Given the description of an element on the screen output the (x, y) to click on. 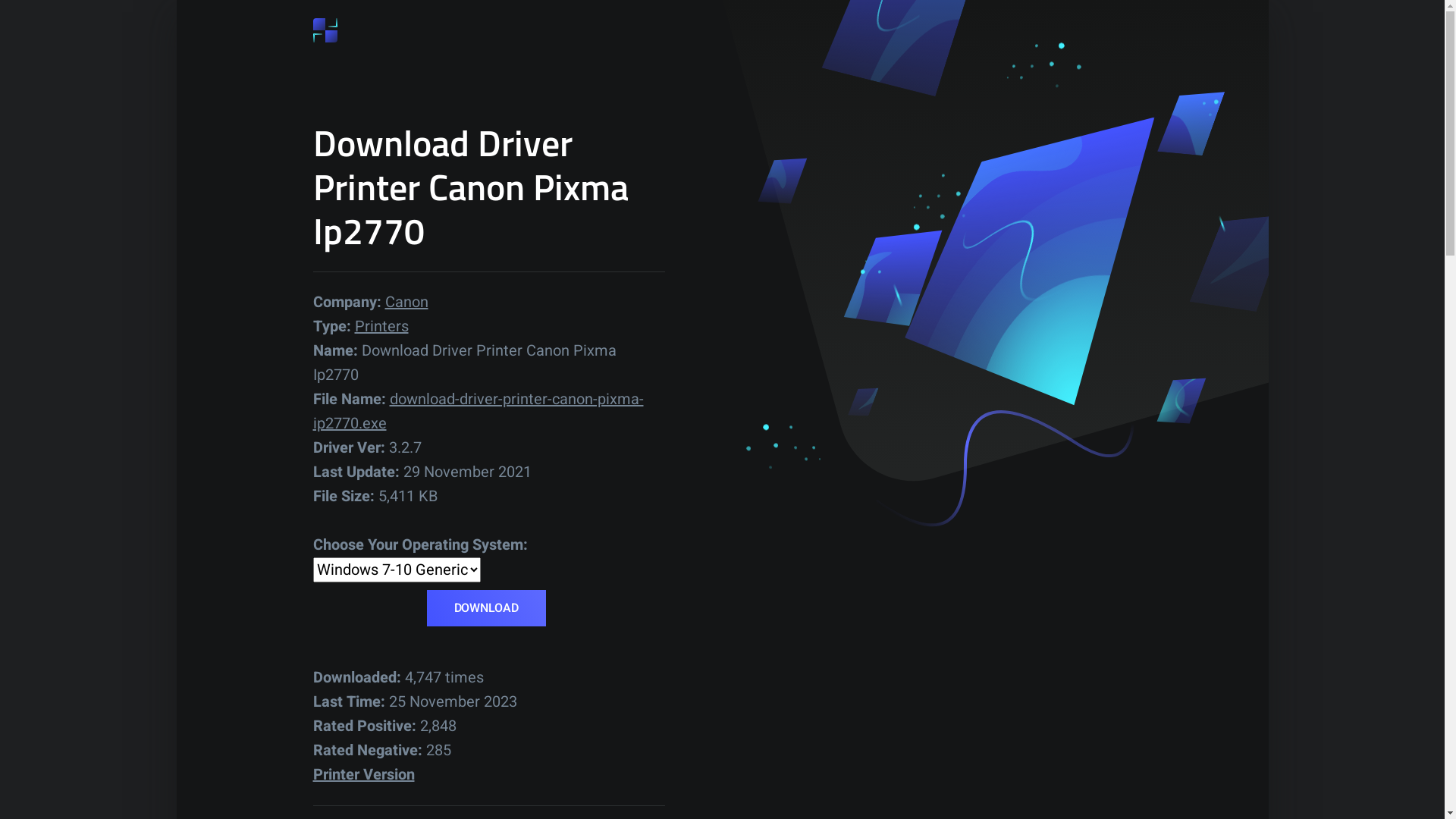
download-driver-printer-canon-pixma-ip2770.exe Element type: text (477, 411)
Printer Version Element type: text (363, 774)
DOWNLOAD Element type: text (485, 607)
Printers Element type: text (381, 326)
Canon Element type: text (406, 302)
